Given the description of an element on the screen output the (x, y) to click on. 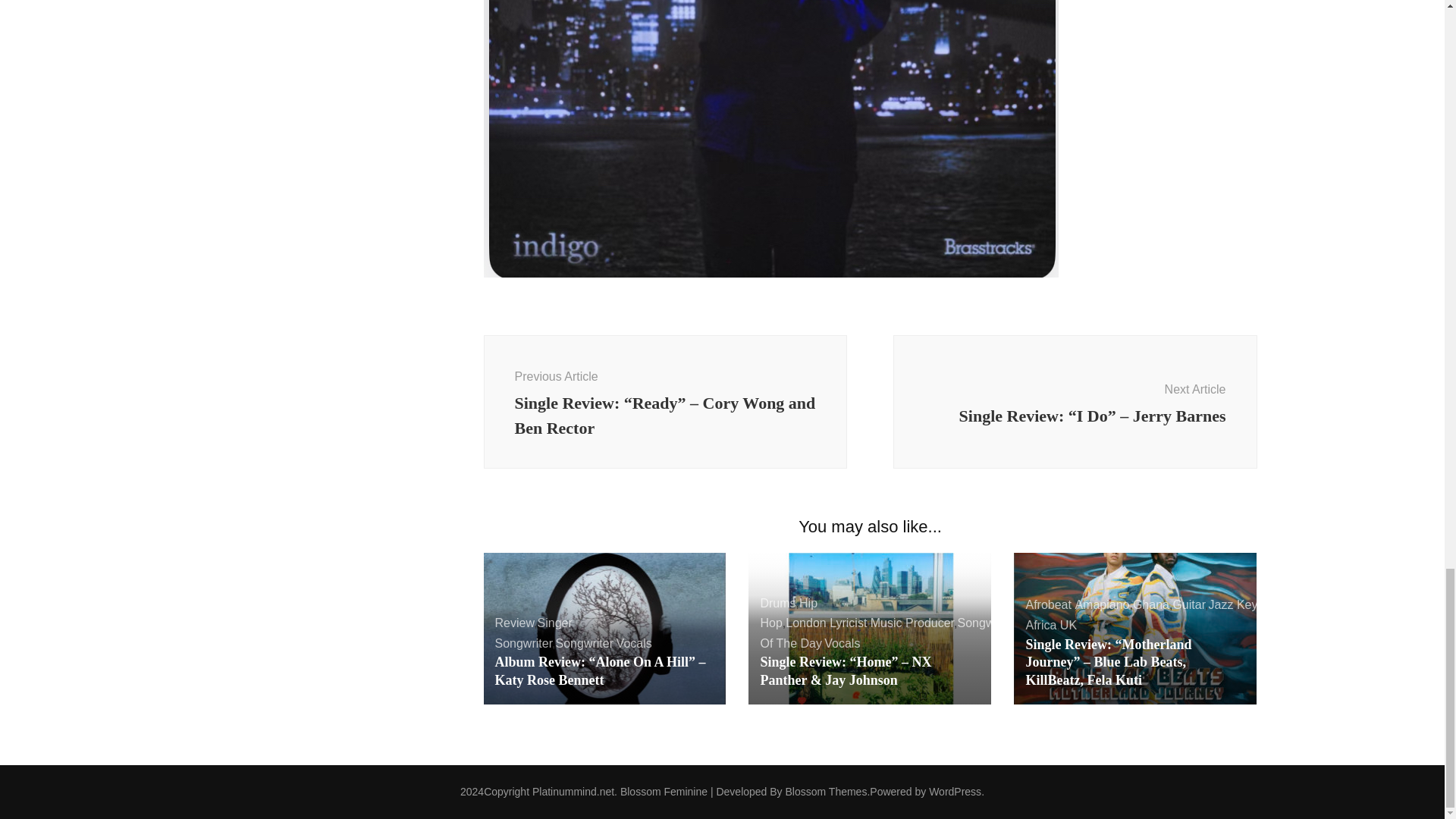
Singer Songwriter (533, 633)
Vocals (633, 643)
Songwriter (584, 643)
Review (514, 622)
